Given the description of an element on the screen output the (x, y) to click on. 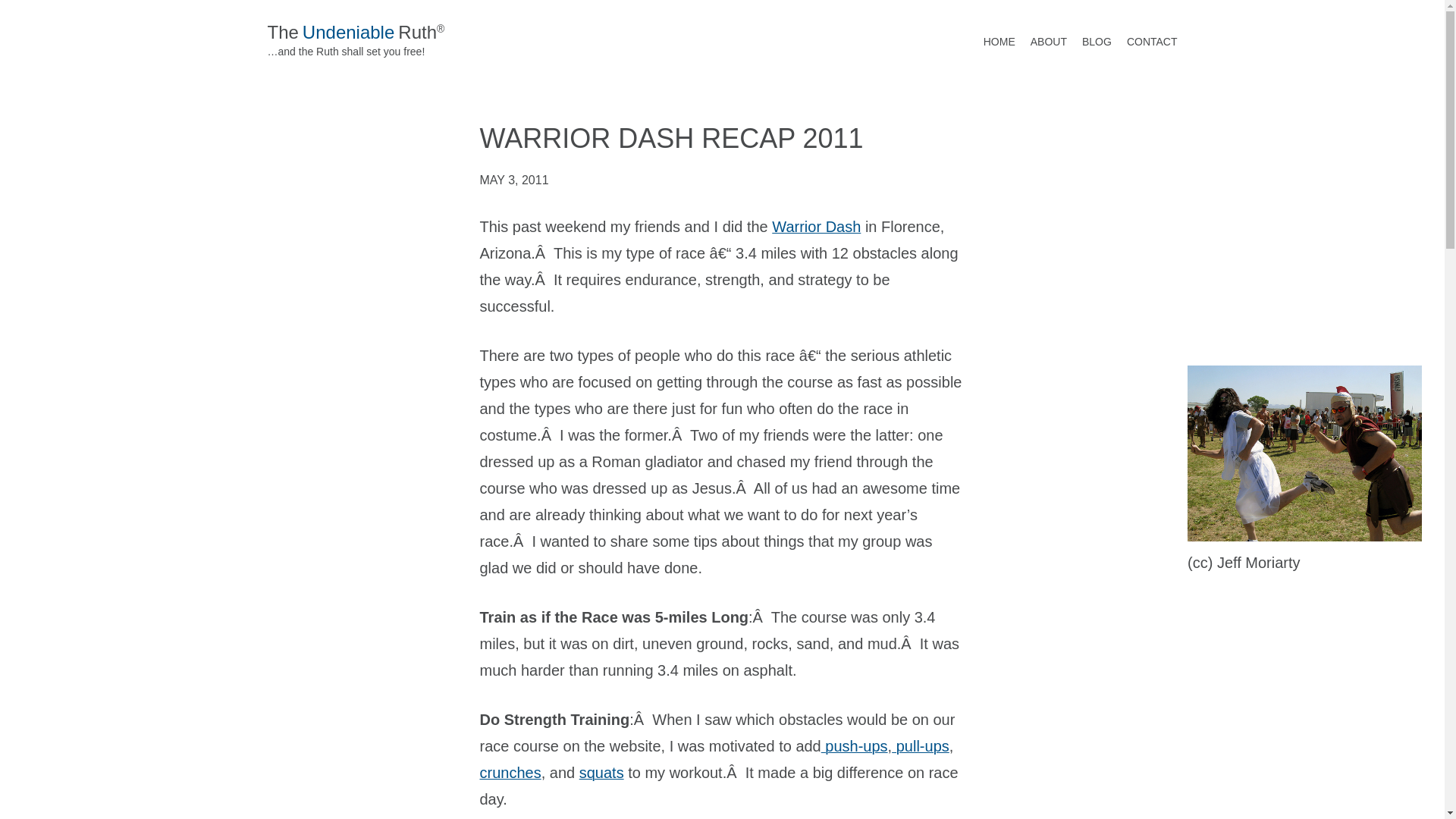
Ruth (416, 32)
CONTACT (1151, 41)
Warrior Dash (815, 226)
Warrior Dash (815, 226)
pull-ups (920, 745)
200 Sit Ups (509, 772)
BLOG (1096, 41)
push-ups (854, 745)
25 Pull Ups (920, 745)
Jeff Evo Race (1305, 453)
